Given the description of an element on the screen output the (x, y) to click on. 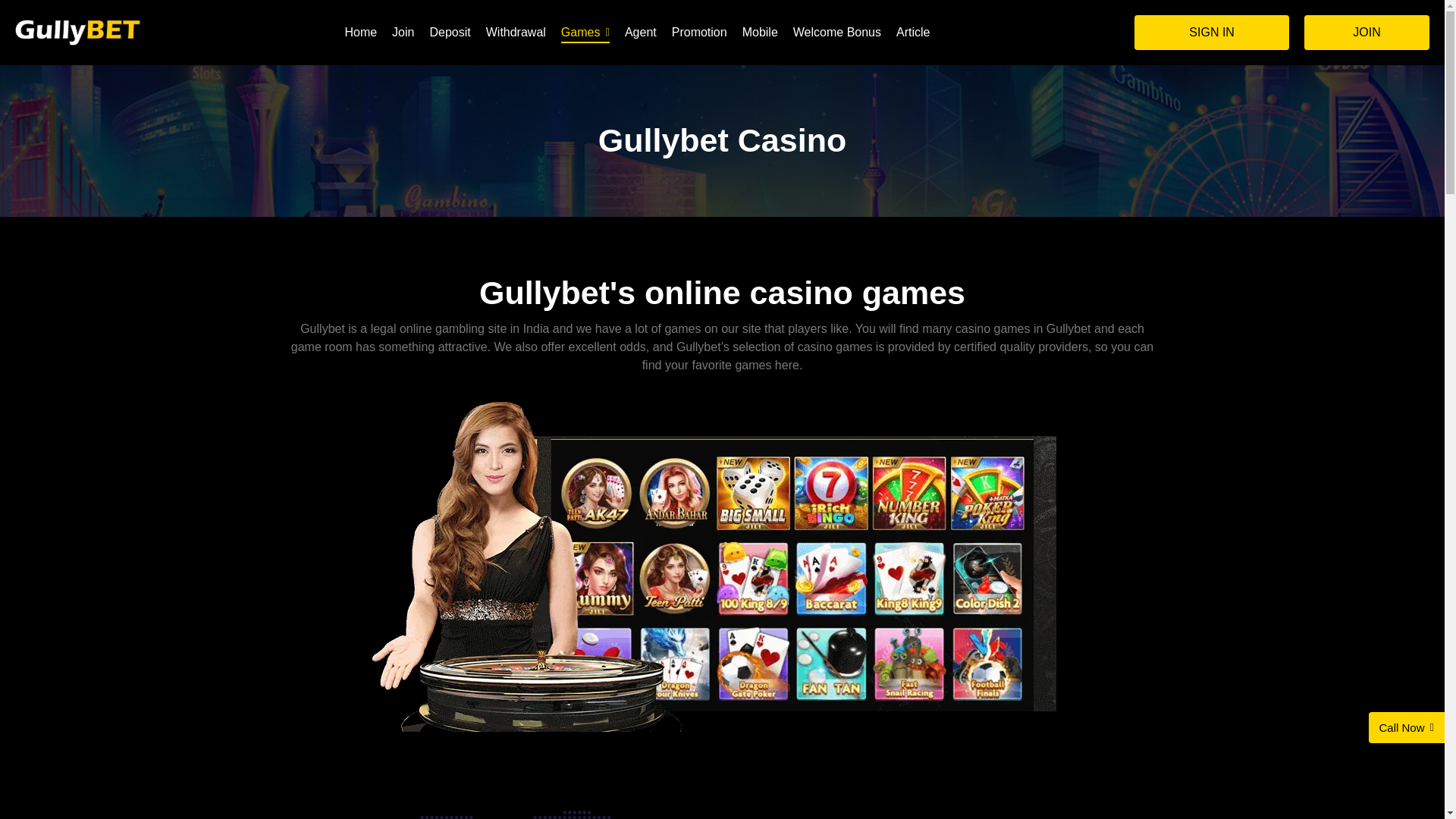
Mobile (759, 32)
Welcome Bonus (836, 32)
Agent (640, 32)
JOIN (1366, 32)
Article (913, 32)
SIGN IN (1211, 32)
Games (585, 32)
Home (360, 32)
Withdrawal (516, 32)
Promotion (698, 32)
Deposit (449, 32)
